Given the description of an element on the screen output the (x, y) to click on. 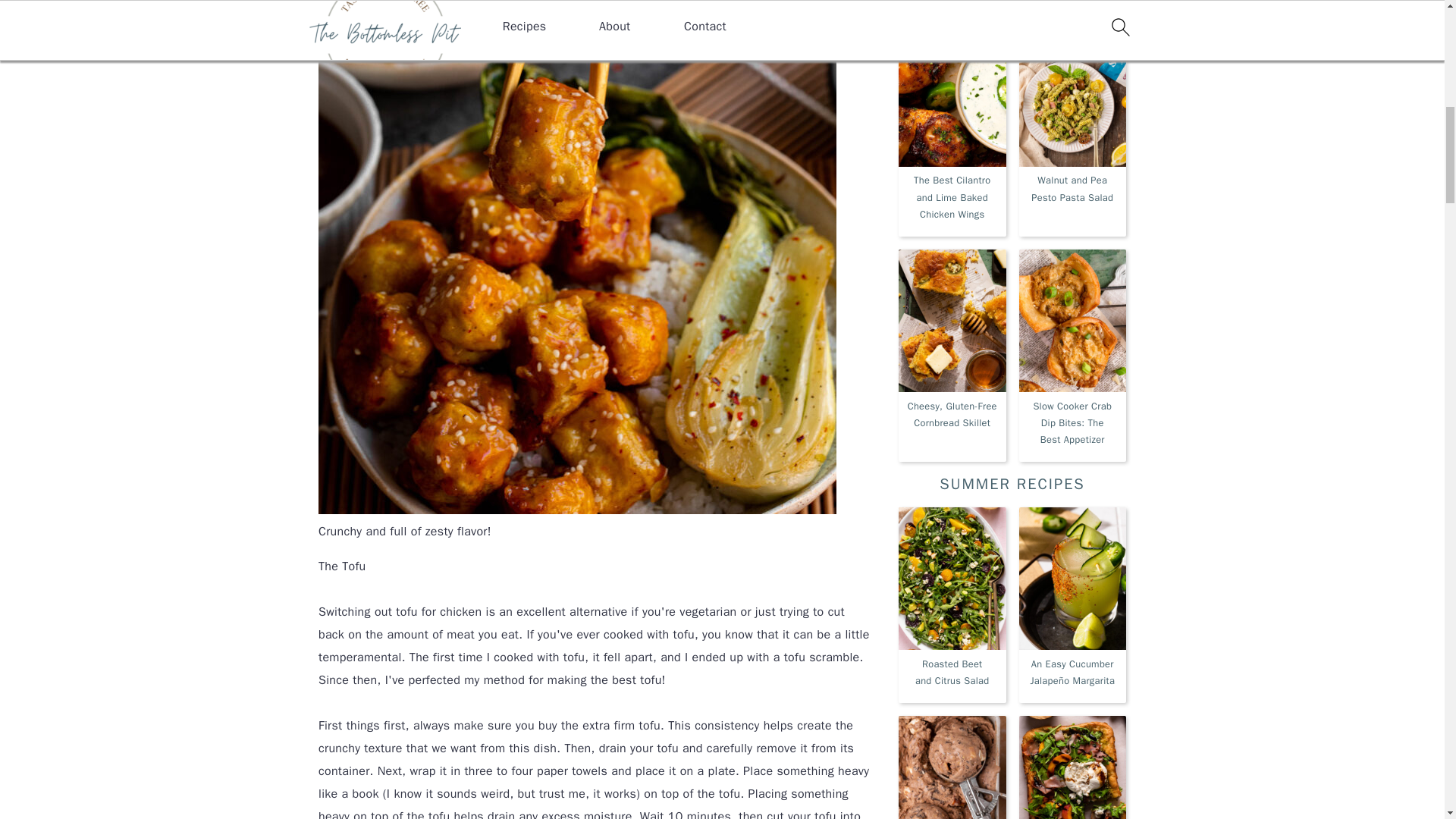
The Best Cilantro and Lime Baked Chicken Wings (952, 122)
